Given the description of an element on the screen output the (x, y) to click on. 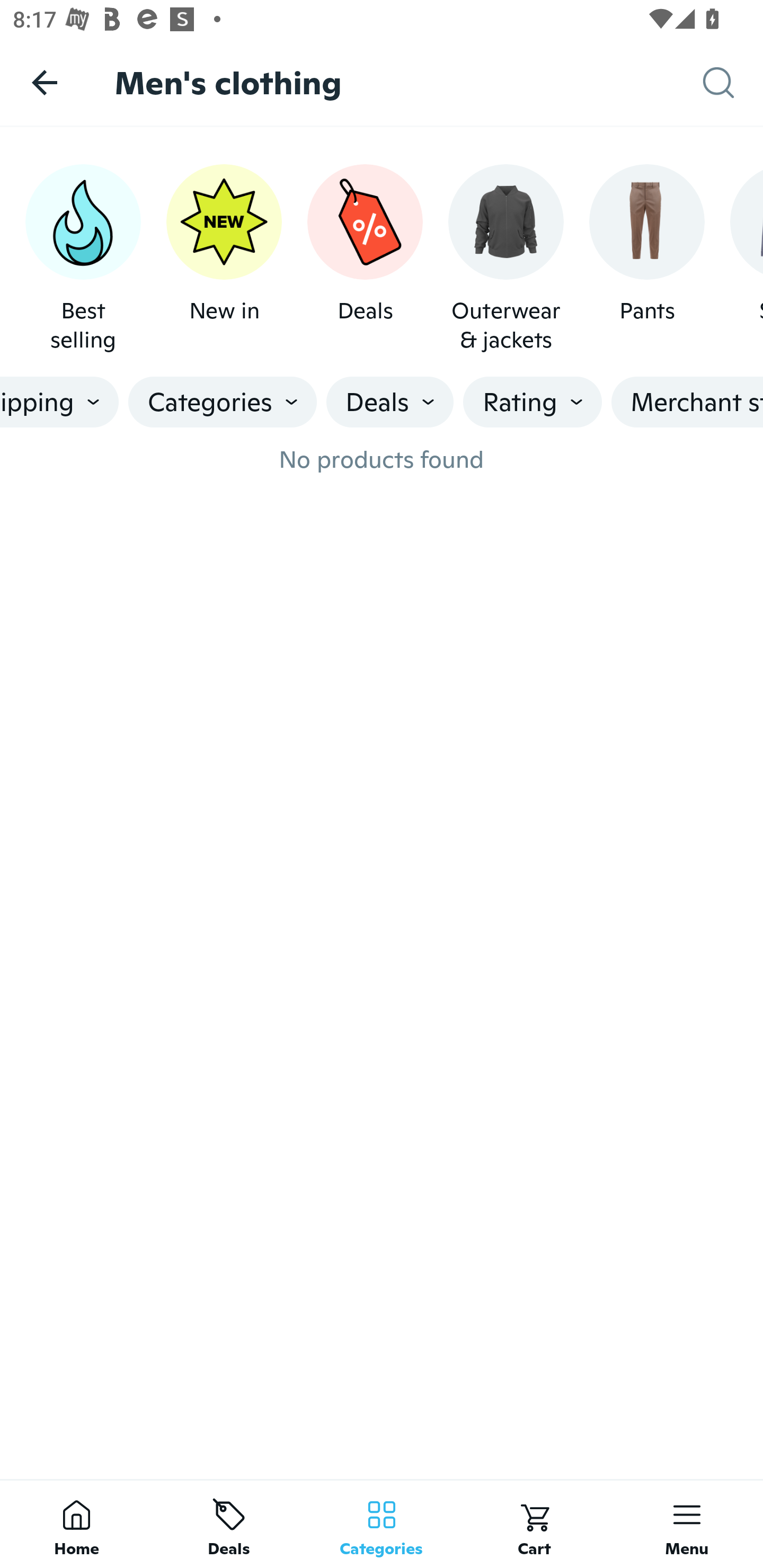
Navigate up (44, 82)
Search (732, 82)
Best selling (83, 259)
New in (223, 259)
Deals (364, 259)
Outerwear & jackets (505, 259)
Pants (647, 259)
Shipping (59, 402)
Categories (222, 402)
Deals (389, 402)
Rating (532, 402)
Home (76, 1523)
Deals (228, 1523)
Categories (381, 1523)
Cart (533, 1523)
Menu (686, 1523)
